Given the description of an element on the screen output the (x, y) to click on. 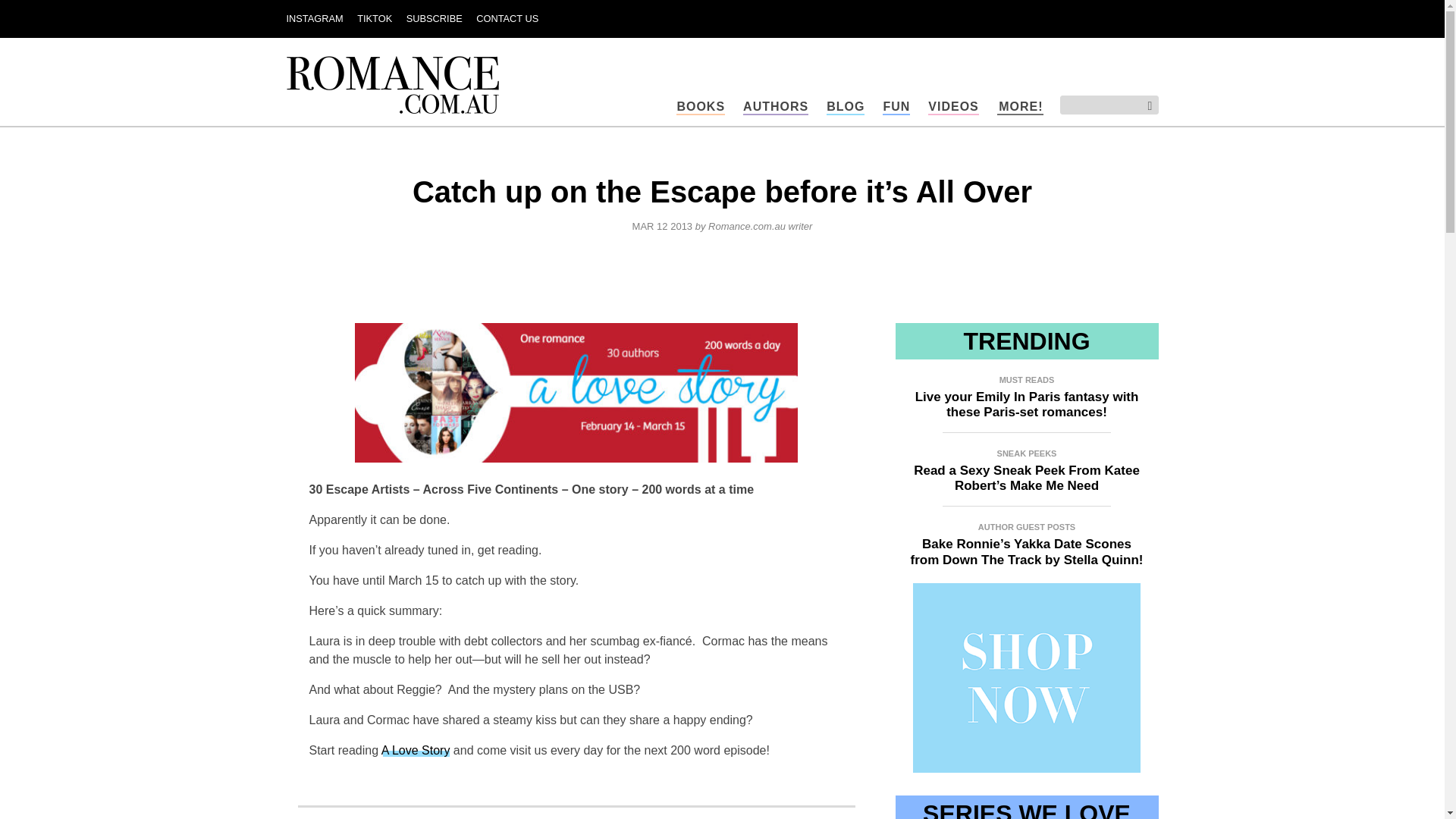
SUBSCRIBE (434, 18)
TIKTOK (373, 18)
CONTACT US (507, 18)
INSTAGRAM (314, 18)
Search (1144, 106)
Search (1144, 106)
